Given the description of an element on the screen output the (x, y) to click on. 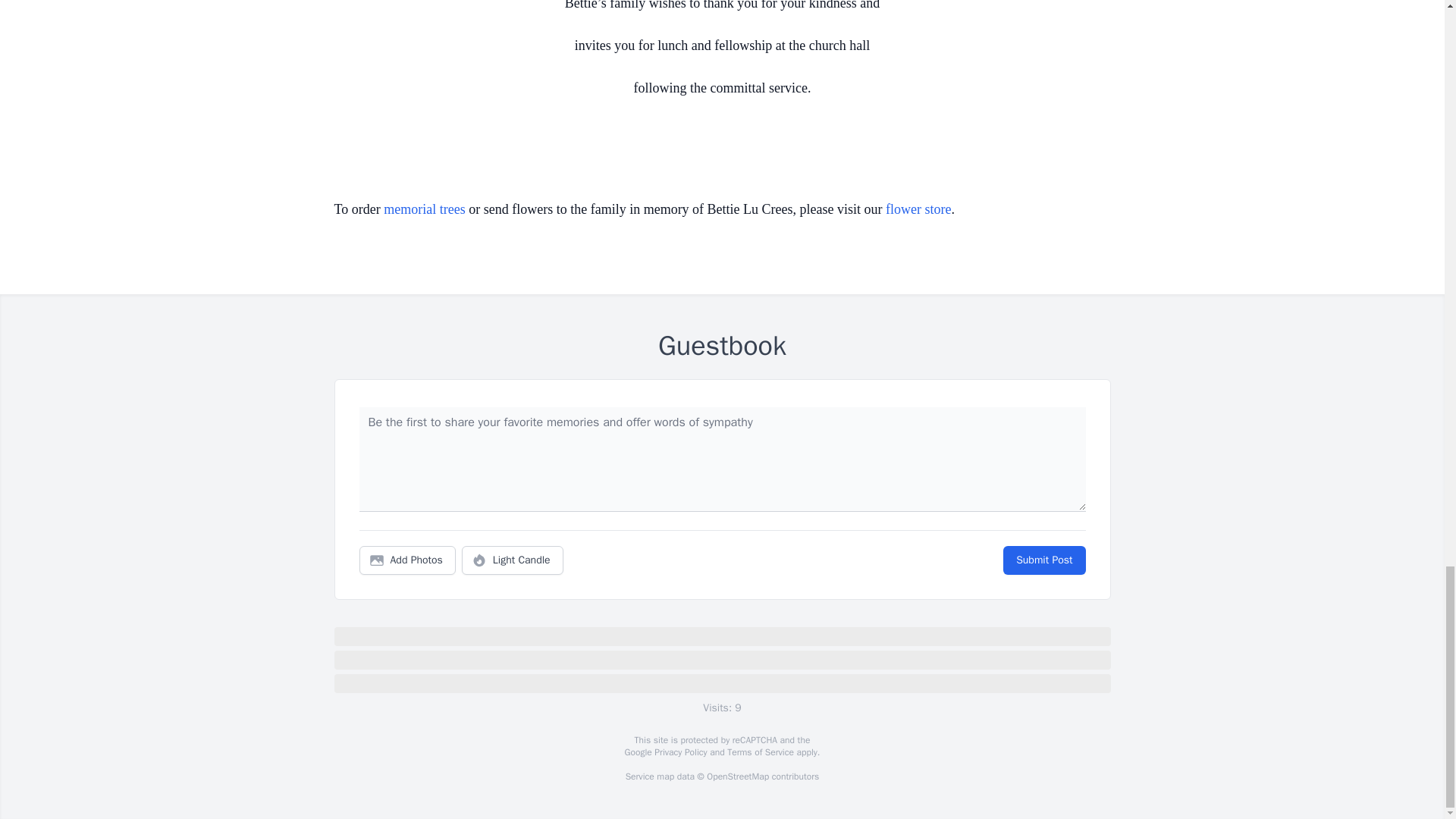
flower store (917, 209)
memorial trees (424, 209)
Terms of Service (759, 752)
Light Candle (512, 560)
Add Photos (407, 560)
Submit Post (1043, 560)
OpenStreetMap (737, 776)
Privacy Policy (679, 752)
